Given the description of an element on the screen output the (x, y) to click on. 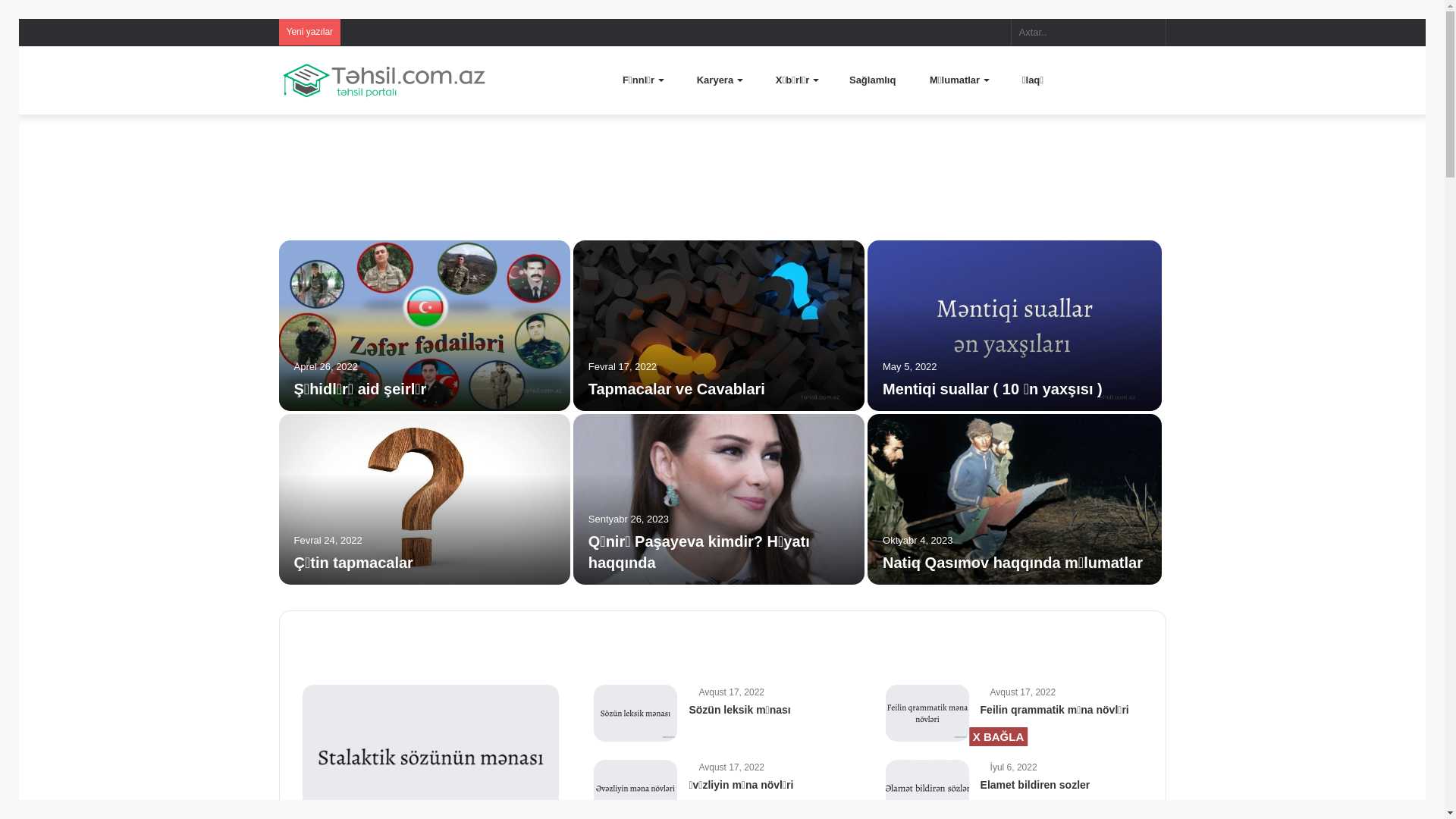
Axtar.. Element type: text (1149, 31)
Tapmacalar ve Cavablari Element type: text (676, 388)
Karyera Element type: text (712, 80)
Axtar.. Element type: hover (1088, 31)
Elamet bildiren sozler Element type: text (1035, 784)
